Given the description of an element on the screen output the (x, y) to click on. 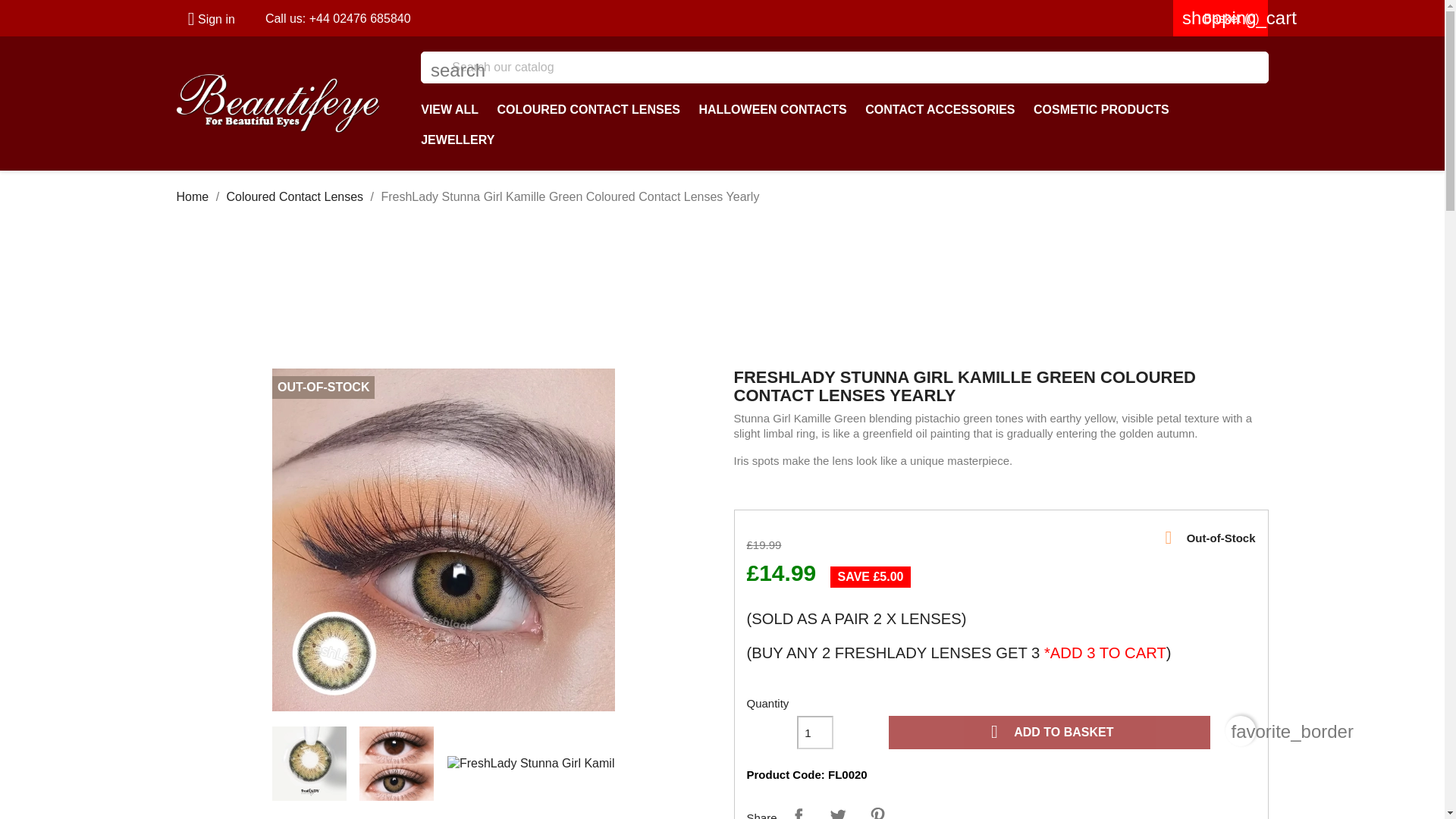
1 (814, 732)
Share (798, 809)
Pinterest (876, 809)
Tweet (837, 809)
COLOURED CONTACT LENSES (588, 110)
VIEW ALL (449, 110)
Log in to your customer account (205, 19)
HALLOWEEN CONTACTS (771, 110)
